Given the description of an element on the screen output the (x, y) to click on. 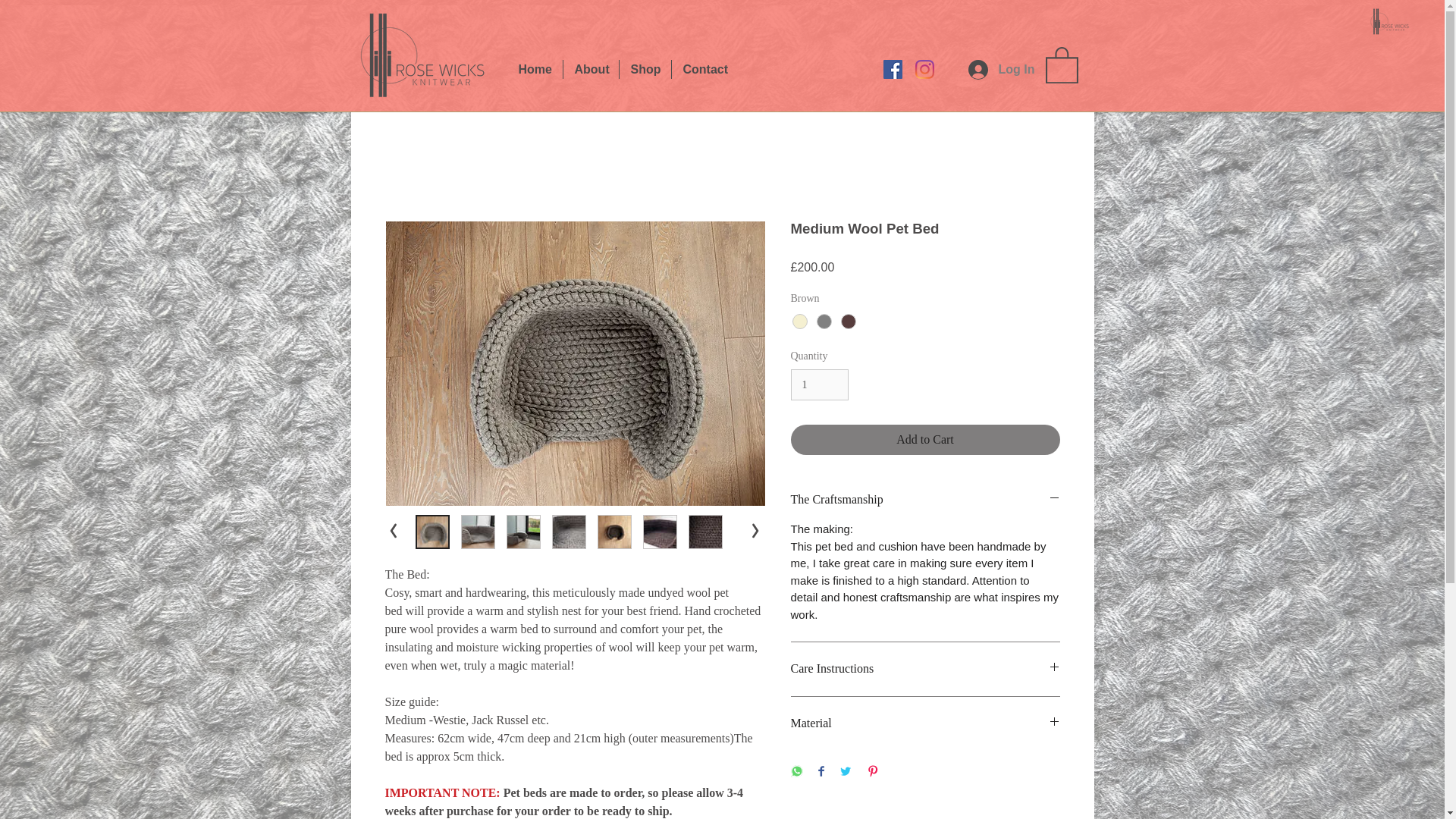
Shop (643, 68)
Log In (1001, 69)
Care Instructions (924, 668)
Material (924, 723)
Add to Cart (924, 440)
About (589, 68)
Contact (703, 68)
The Craftsmanship (924, 499)
Home (534, 68)
1 (818, 384)
